Given the description of an element on the screen output the (x, y) to click on. 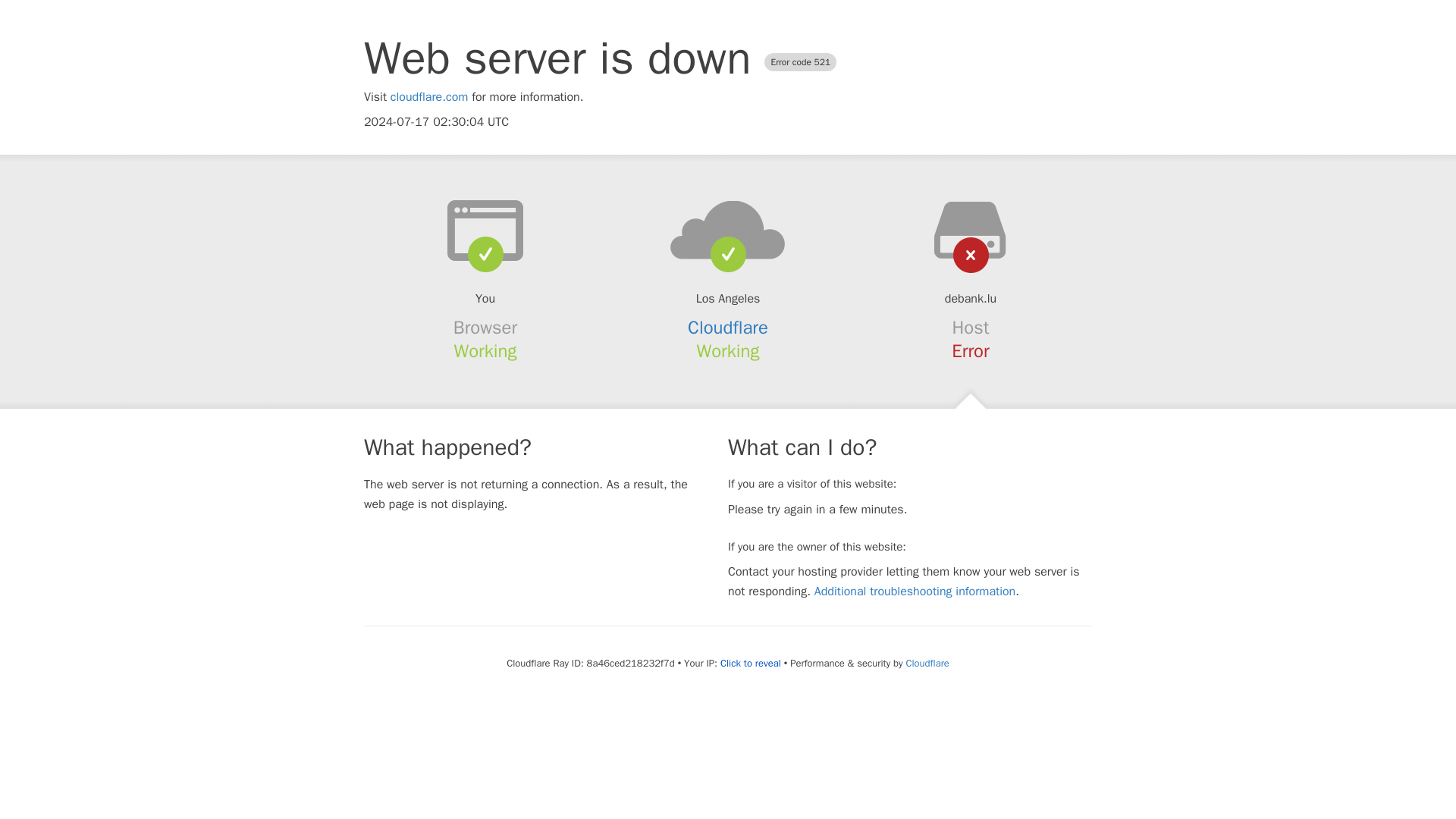
cloudflare.com (429, 96)
Cloudflare (727, 327)
Click to reveal (750, 663)
Additional troubleshooting information (913, 590)
Cloudflare (927, 662)
